Given the description of an element on the screen output the (x, y) to click on. 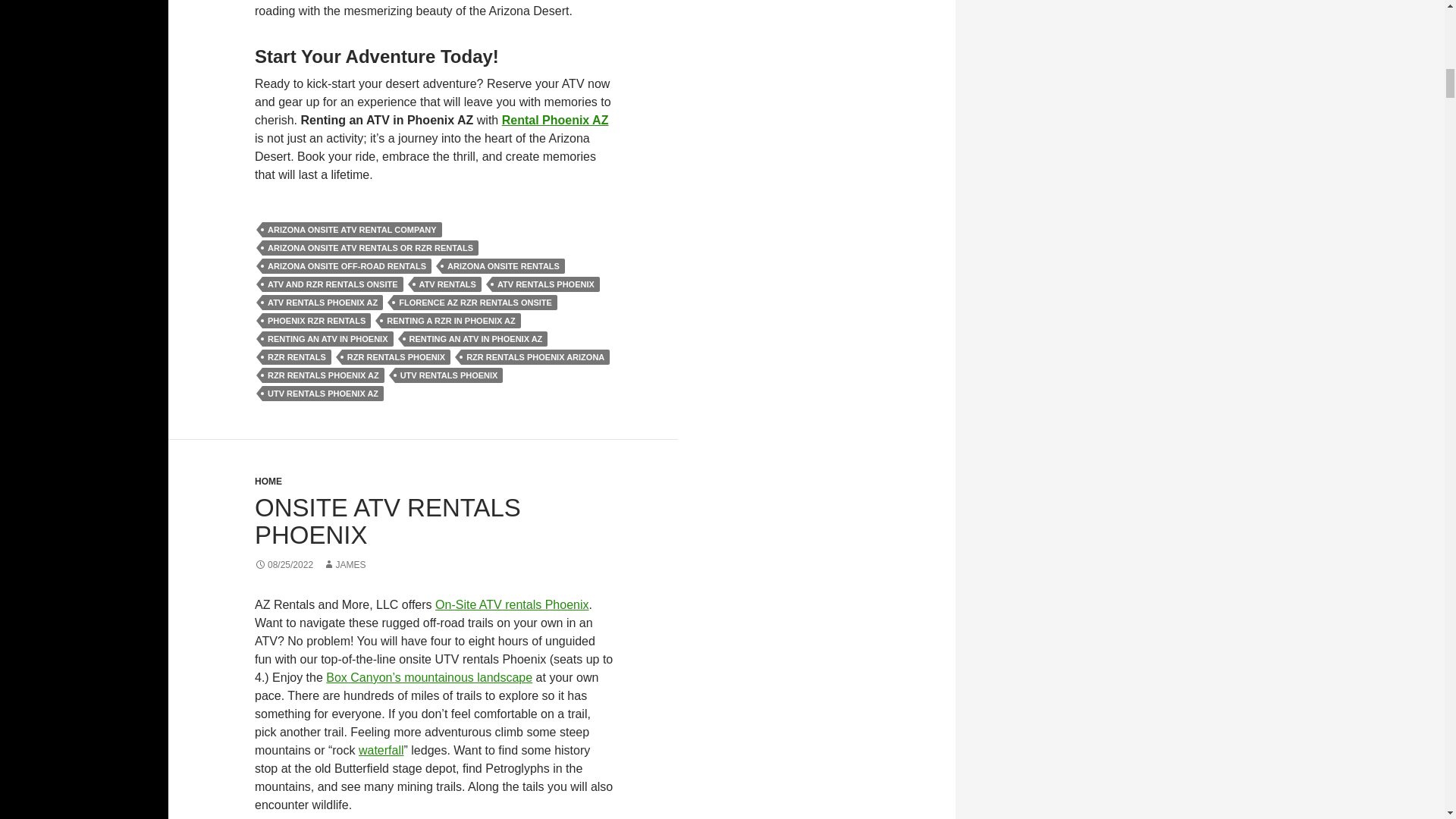
RZR RENTALS (296, 356)
ATV AND RZR RENTALS ONSITE (332, 283)
ATV RENTALS PHOENIX AZ (322, 302)
RZR RENTALS PHOENIX (395, 356)
FLORENCE AZ RZR RENTALS ONSITE (475, 302)
ARIZONA ONSITE ATV RENTALS OR RZR RENTALS (370, 247)
Rental Phoenix AZ (555, 119)
ATV RENTALS (447, 283)
ARIZONA ONSITE ATV RENTAL COMPANY (352, 229)
ARIZONA ONSITE OFF-ROAD RENTALS (346, 265)
